Given the description of an element on the screen output the (x, y) to click on. 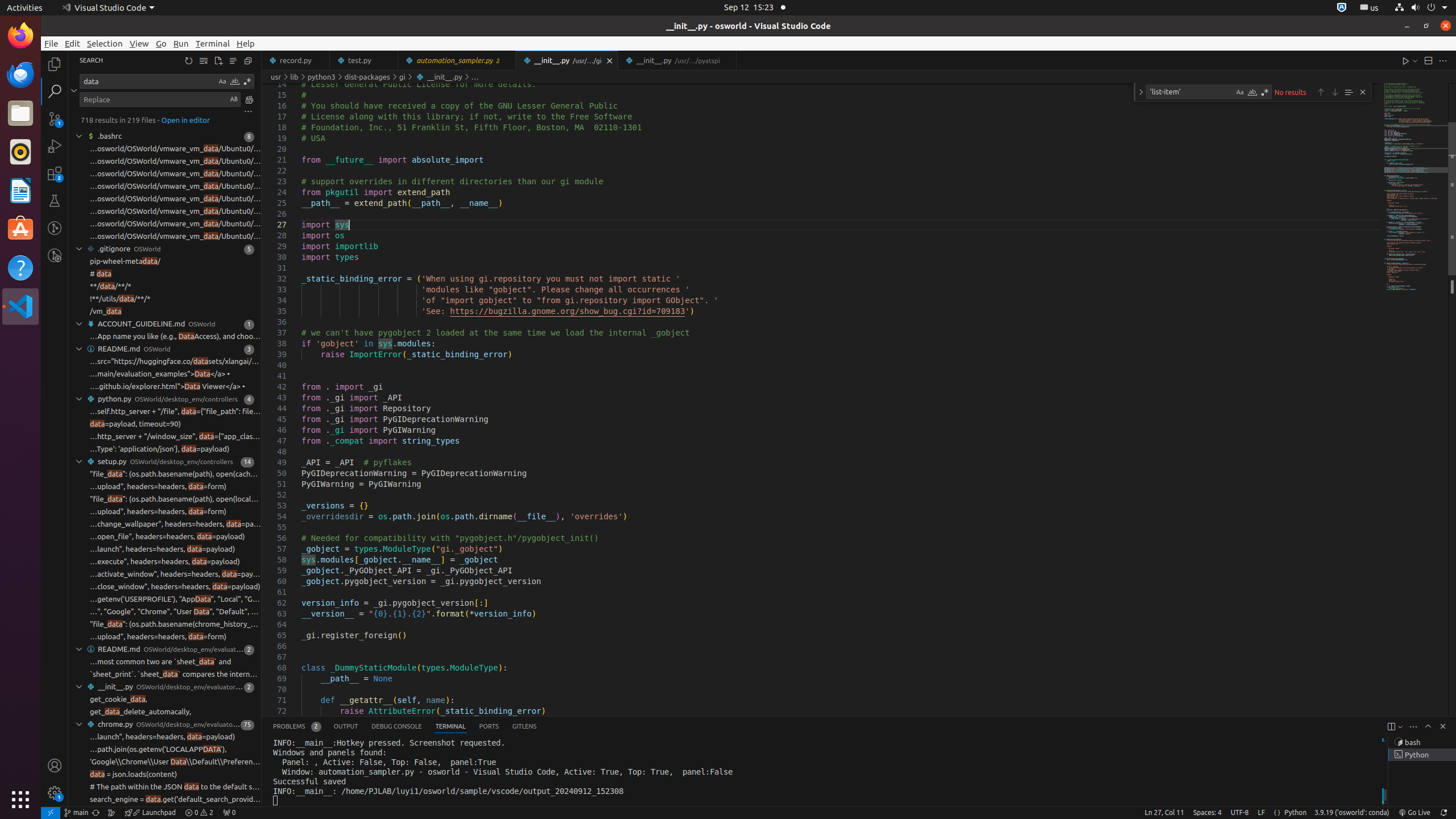
8 matches in file .bashrc of folder ., Search result Element type: tree-item (164, 135)
search_engine = data.get('default_search_provider_data', {}).get('template_url_data', {}).get('short_name', Element type: link (175, 798)
…osworld/OSWorld/vmware_vm_data/Ubuntu0/Ubuntu0.vmx "/bin/bash" "$1 > /home/user/vm.log 2>&1" && vmrun -gu user -gp password copyFileFromGuestToHost /home/PJLAB/luyi1/osworld/OSWorld/vmware_vm_data/Ubuntu0/Ubuntu0.vmx /home/user/vm.log vm.log; }; _vm Element type: link (175, 173)
Refresh Element type: push-button (188, 60)
…path.join(os.getenv('LOCALAPPDATA'), Element type: link (157, 748)
